Given the description of an element on the screen output the (x, y) to click on. 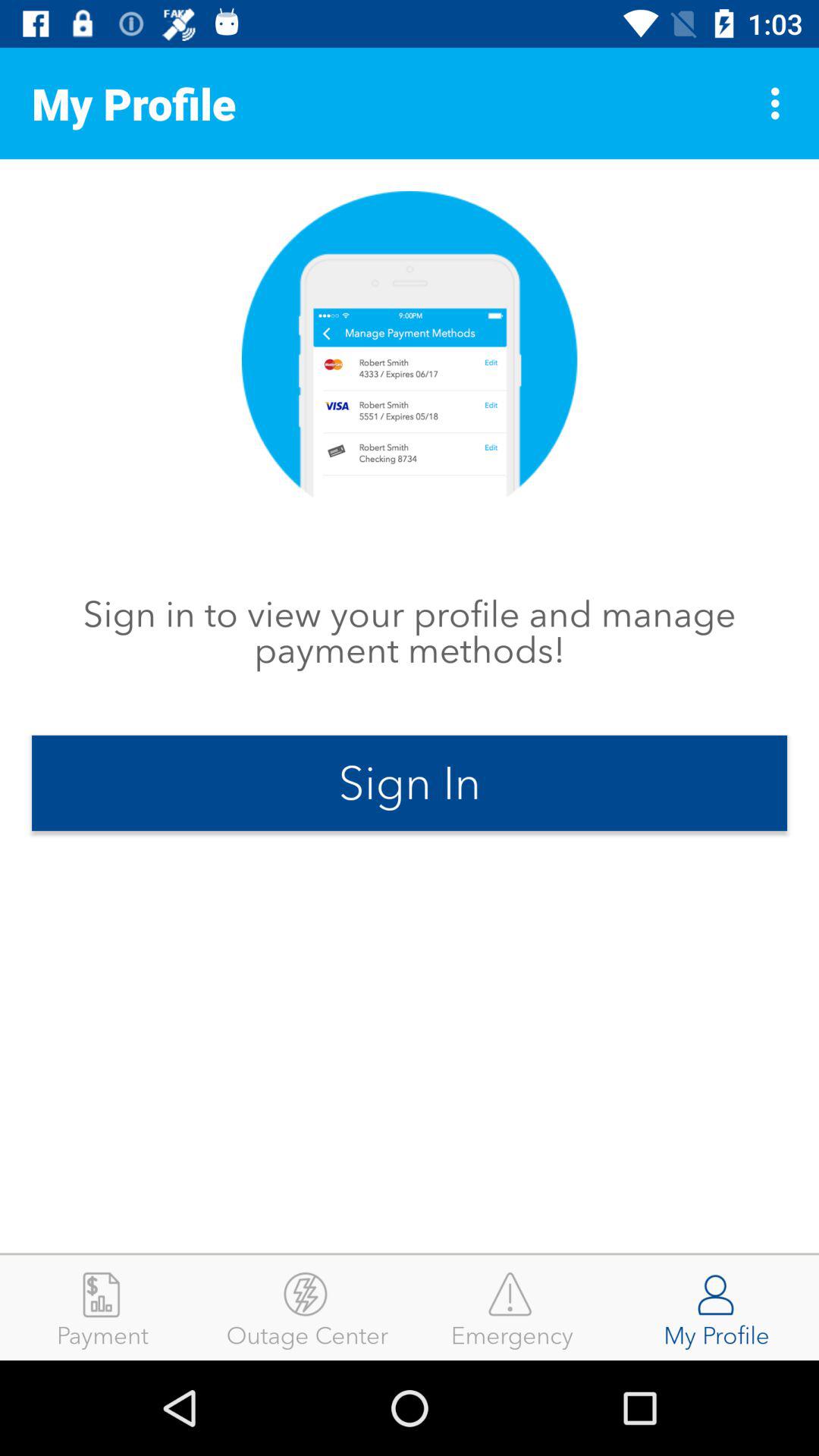
swipe to the emergency (511, 1307)
